Given the description of an element on the screen output the (x, y) to click on. 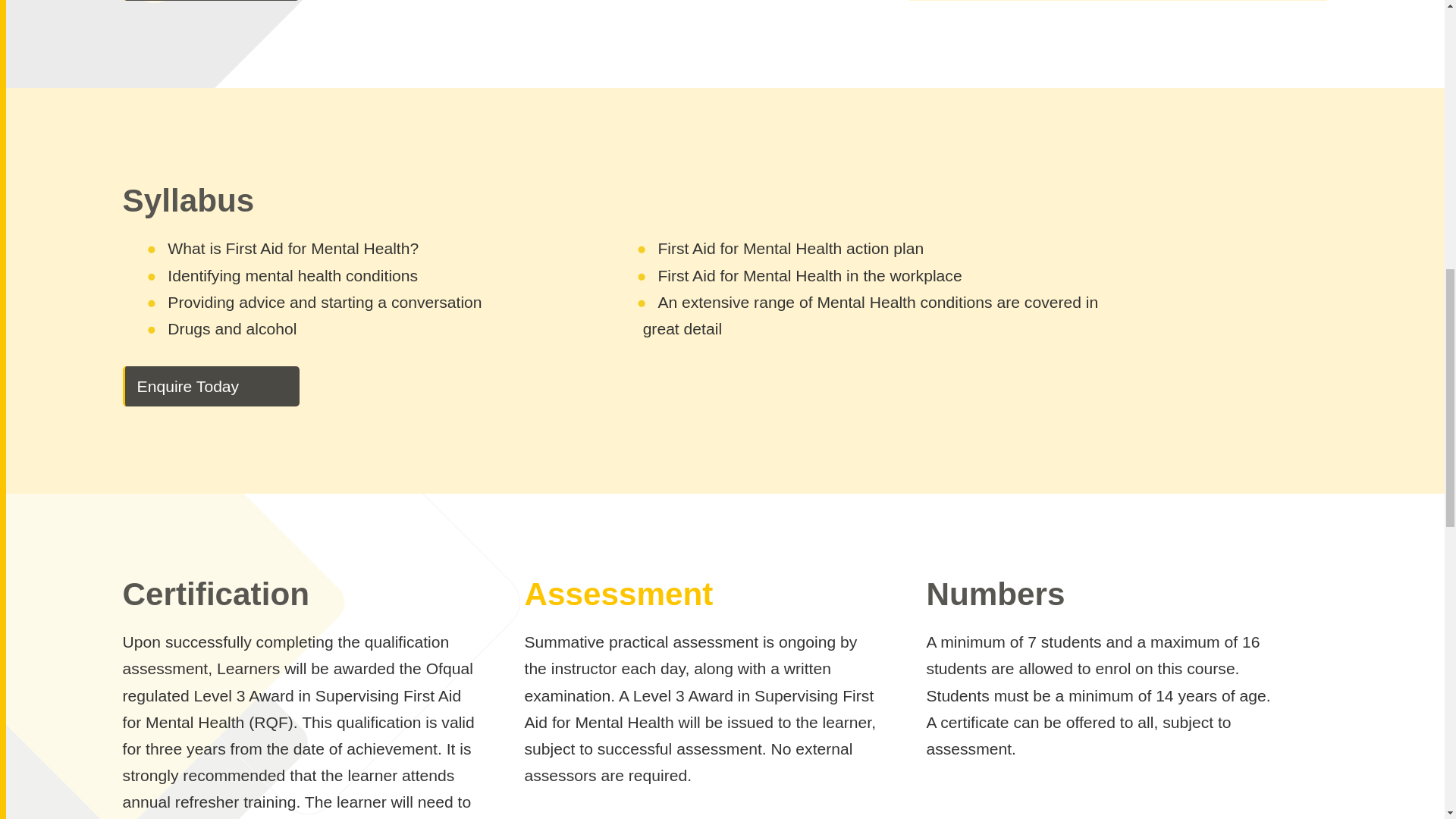
Enquire Today (210, 386)
